Given the description of an element on the screen output the (x, y) to click on. 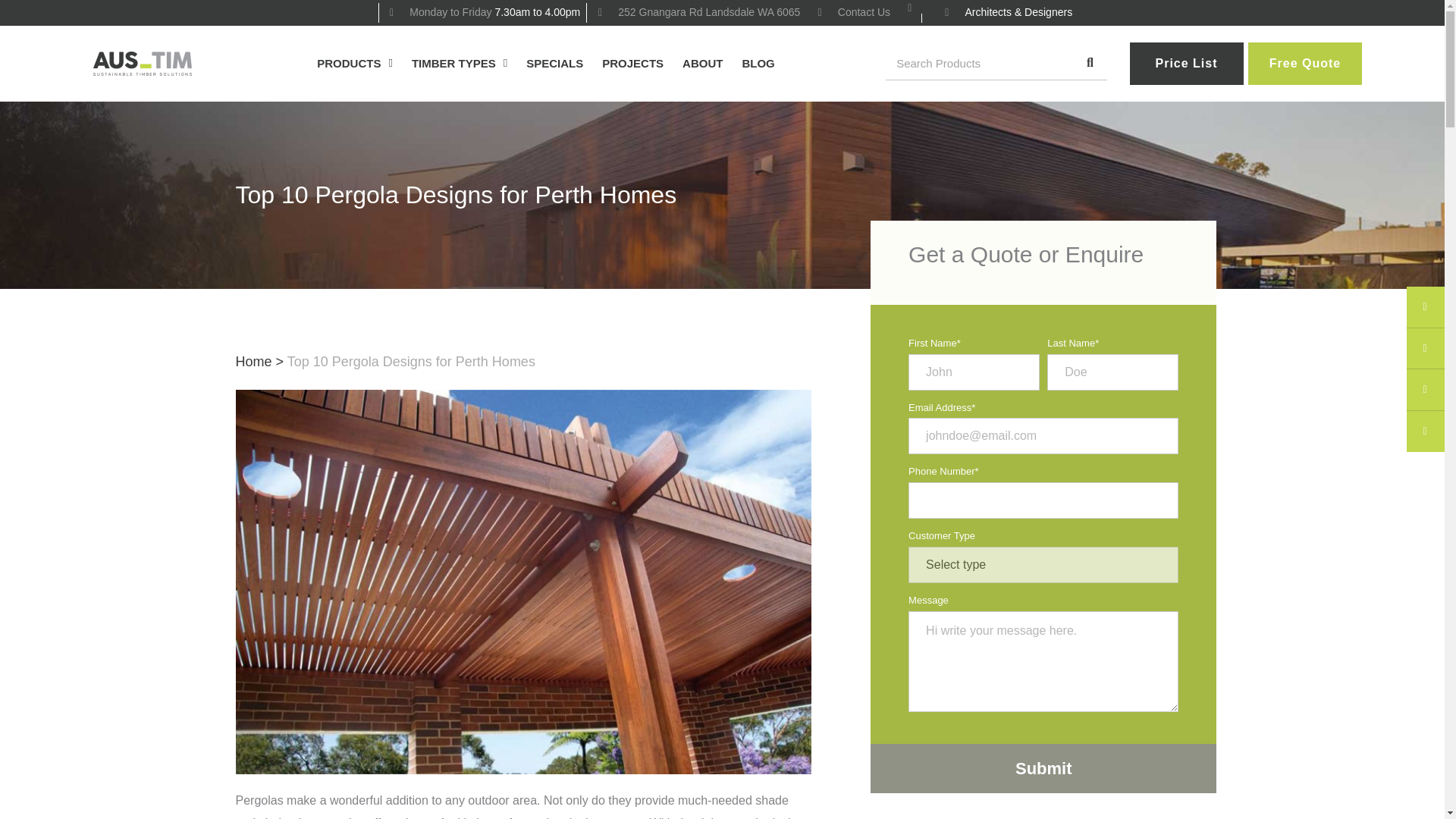
austim logo (141, 63)
Submit (1042, 768)
PRODUCTS (355, 62)
Contact Us (851, 12)
252 Gnangara Rd Landsdale WA 6065 (696, 12)
